Given the description of an element on the screen output the (x, y) to click on. 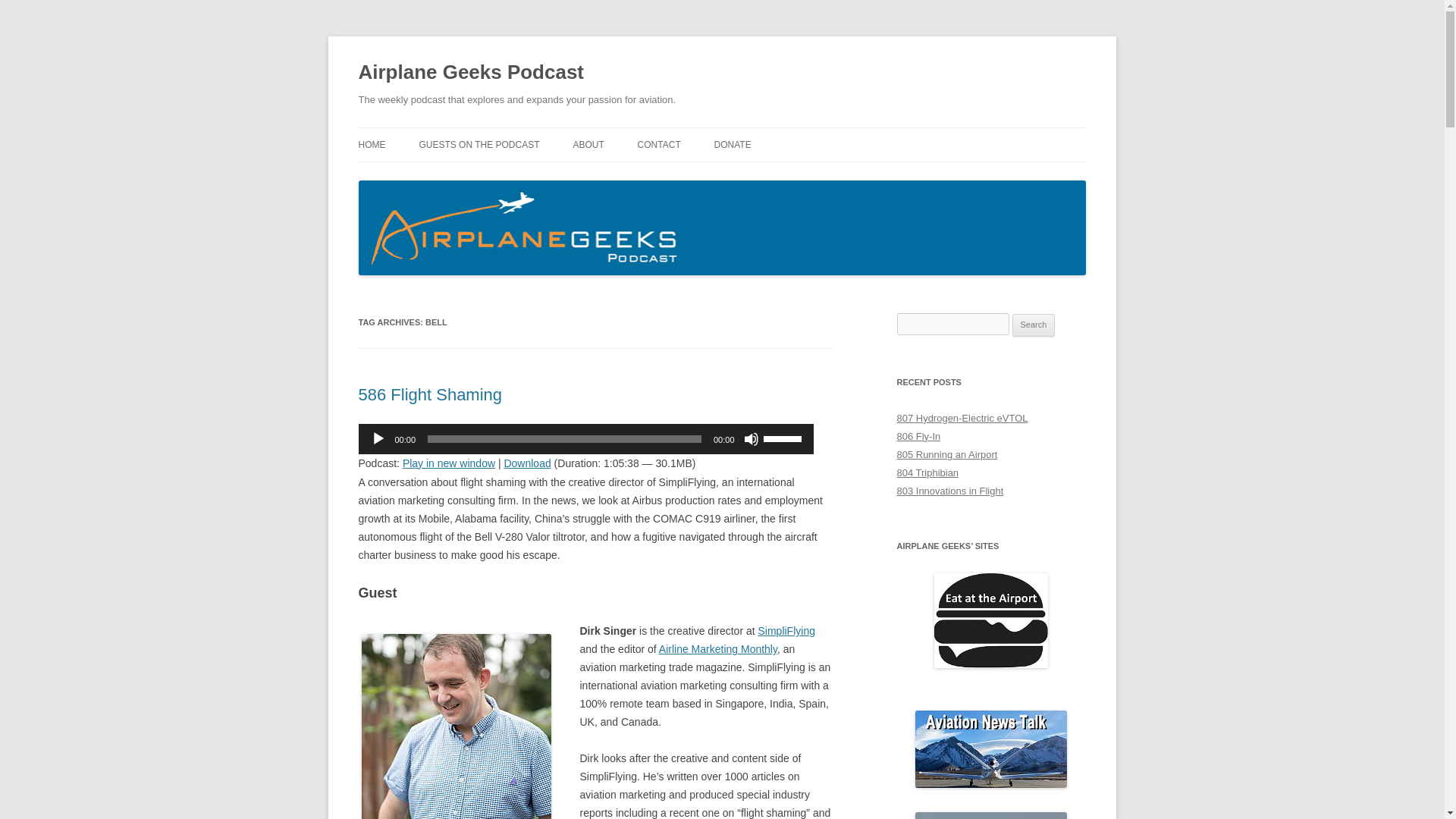
GUESTS ON THE PODCAST (478, 144)
Download (526, 463)
Airplane Geeks Podcast (470, 72)
How to contact the Airplane Geeks (659, 144)
SimpliFlying (786, 630)
Airline Marketing Monthly (718, 648)
Play (377, 438)
586 Flight Shaming (430, 394)
Search (1033, 324)
Download (526, 463)
DONATE (732, 144)
Play in new window (449, 463)
